Given the description of an element on the screen output the (x, y) to click on. 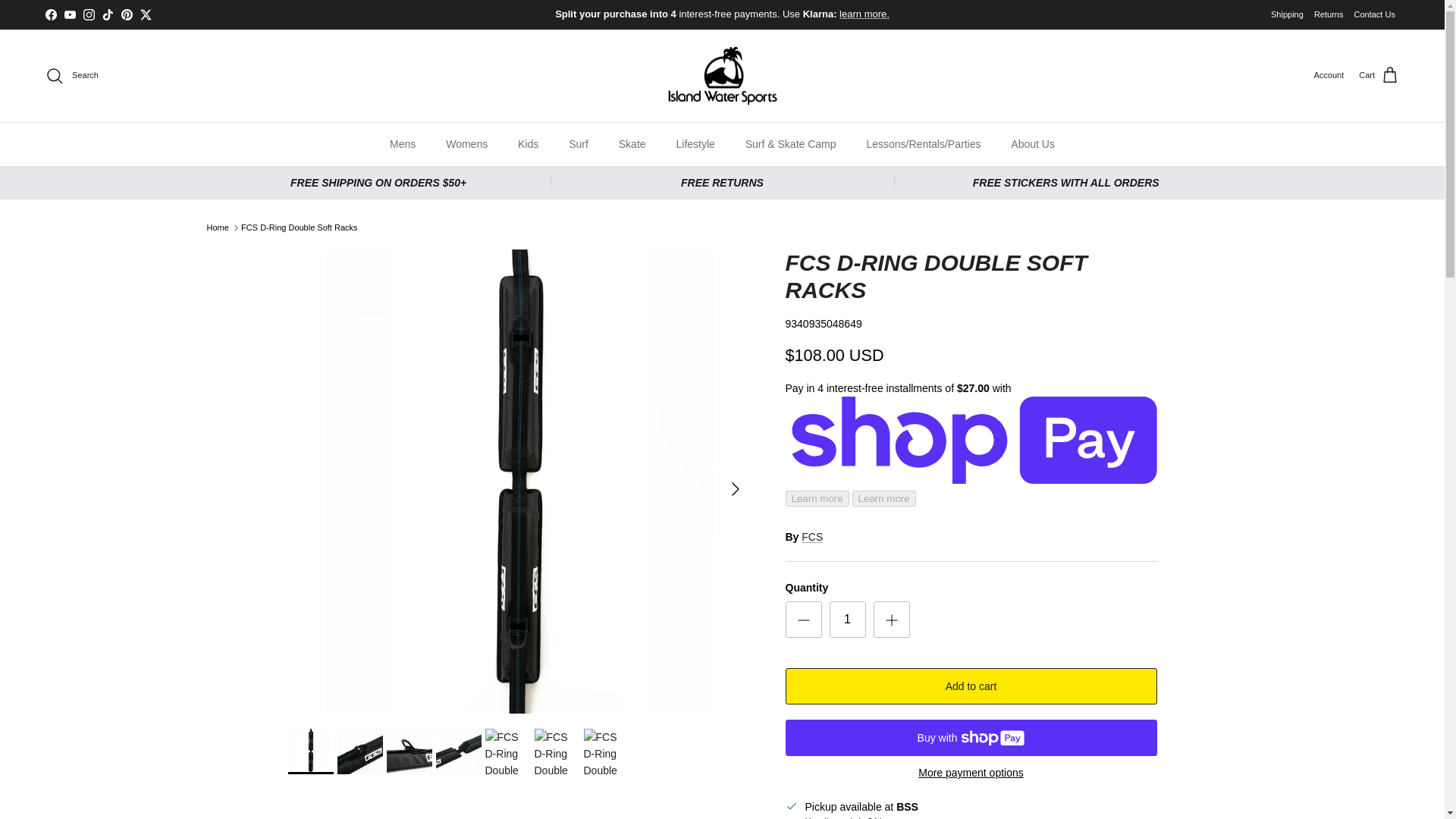
Twitter (145, 14)
Island Water Sports on Twitter (145, 14)
Klarna (864, 13)
Mens (402, 144)
Returns (1328, 14)
Island Water Sports (721, 76)
Cart (1378, 75)
Island Water Sports on YouTube (69, 14)
Shipping (1287, 14)
TikTok (107, 14)
